Given the description of an element on the screen output the (x, y) to click on. 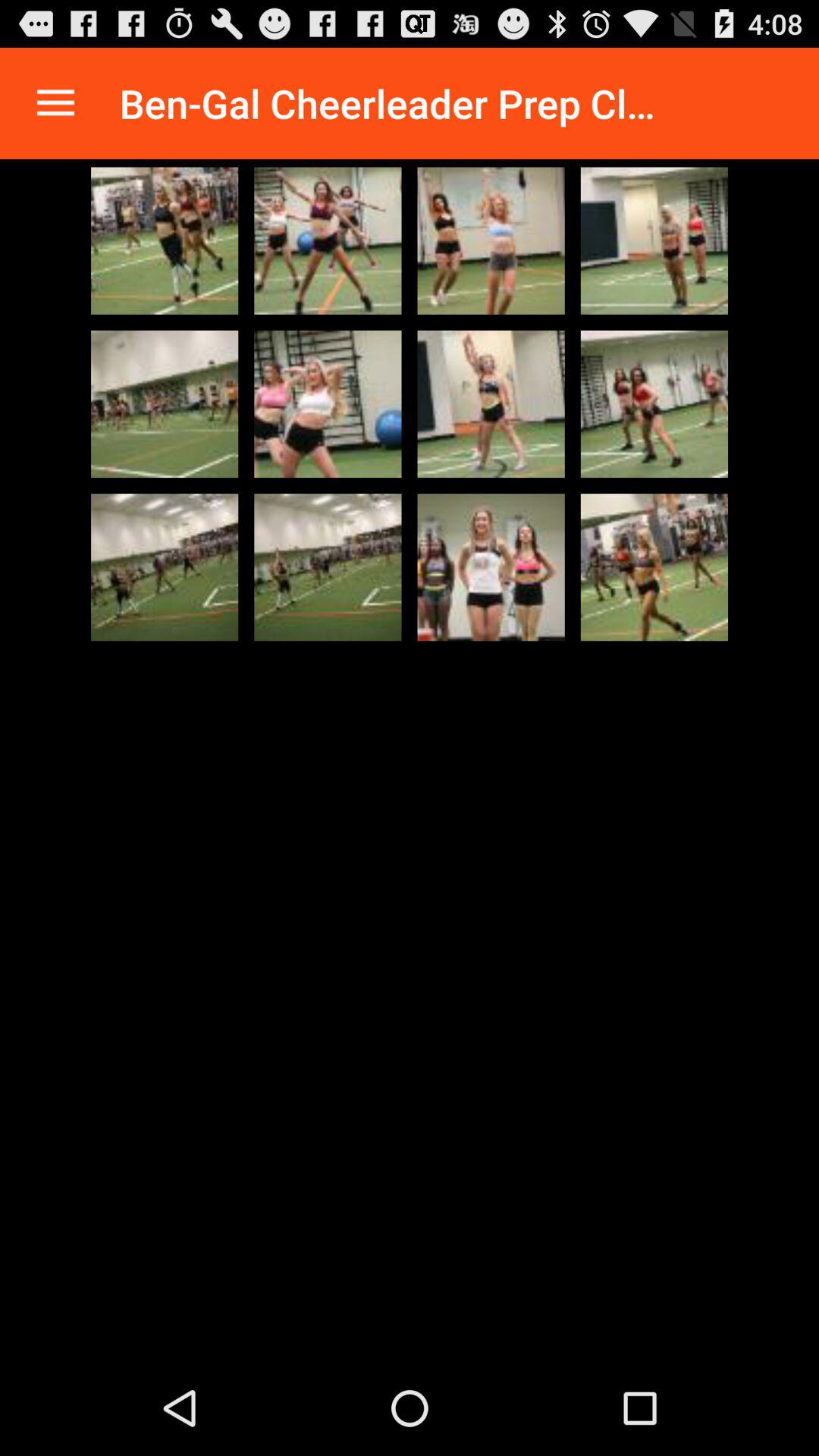
view image (327, 403)
